Given the description of an element on the screen output the (x, y) to click on. 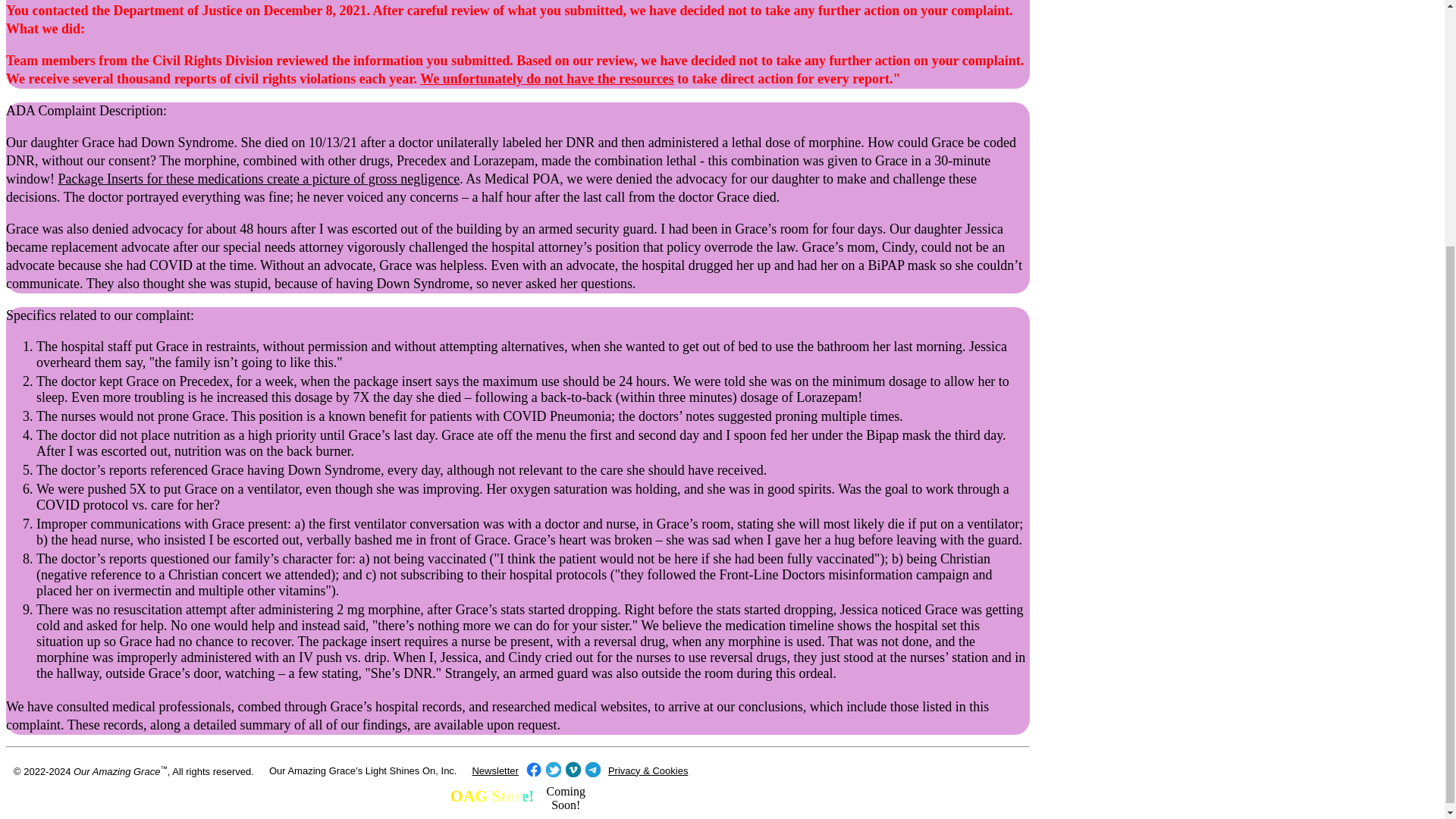
Vimeo (573, 769)
OAG Store Coming Soon (517, 804)
Twitter (553, 769)
Facebook (533, 769)
Telegram (592, 769)
